Given the description of an element on the screen output the (x, y) to click on. 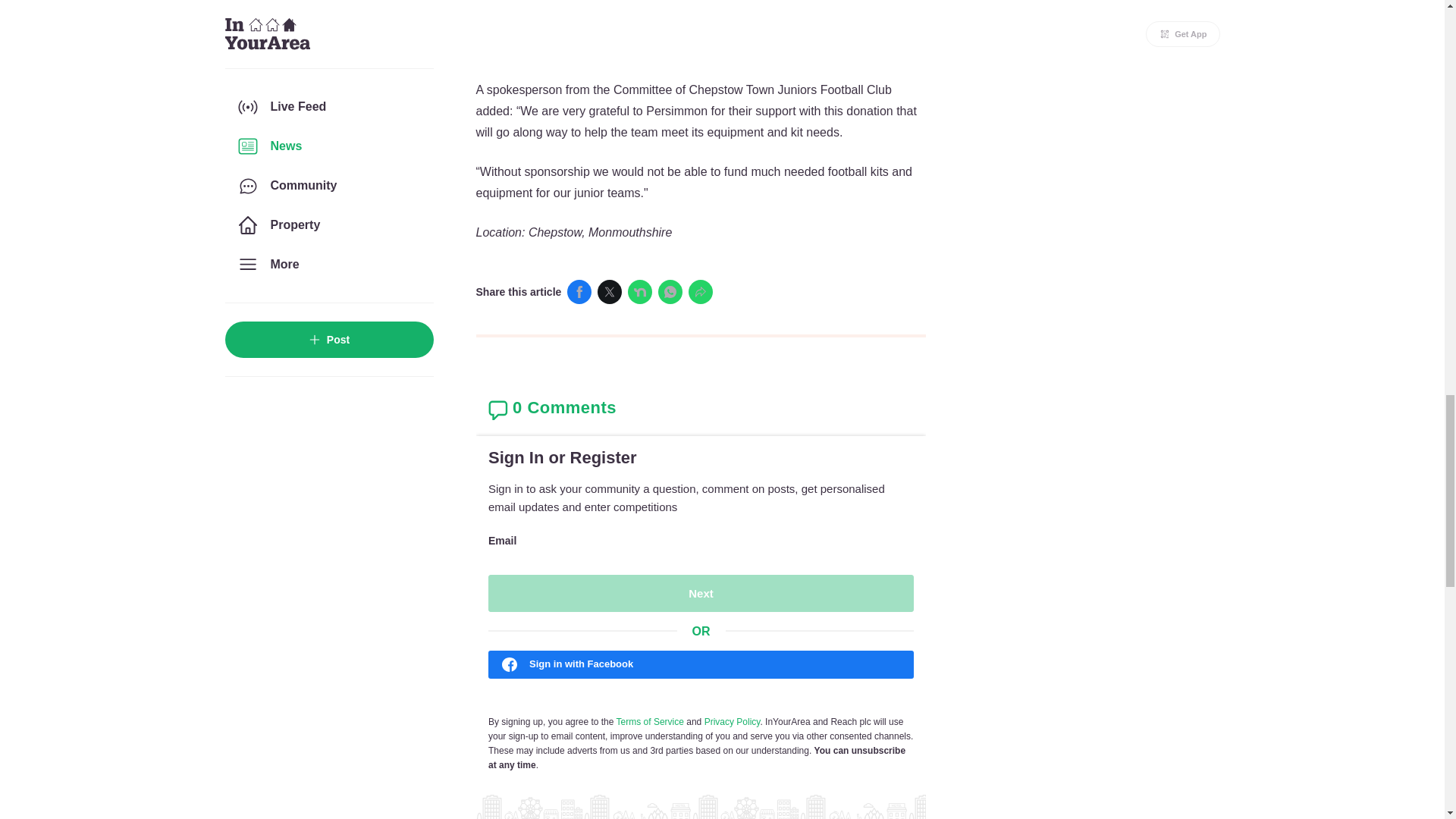
Share to ... (700, 291)
Share to Whatsapp (670, 291)
Share to Facebook (579, 291)
Share to X (608, 291)
Share to Nextdoor (639, 291)
